Given the description of an element on the screen output the (x, y) to click on. 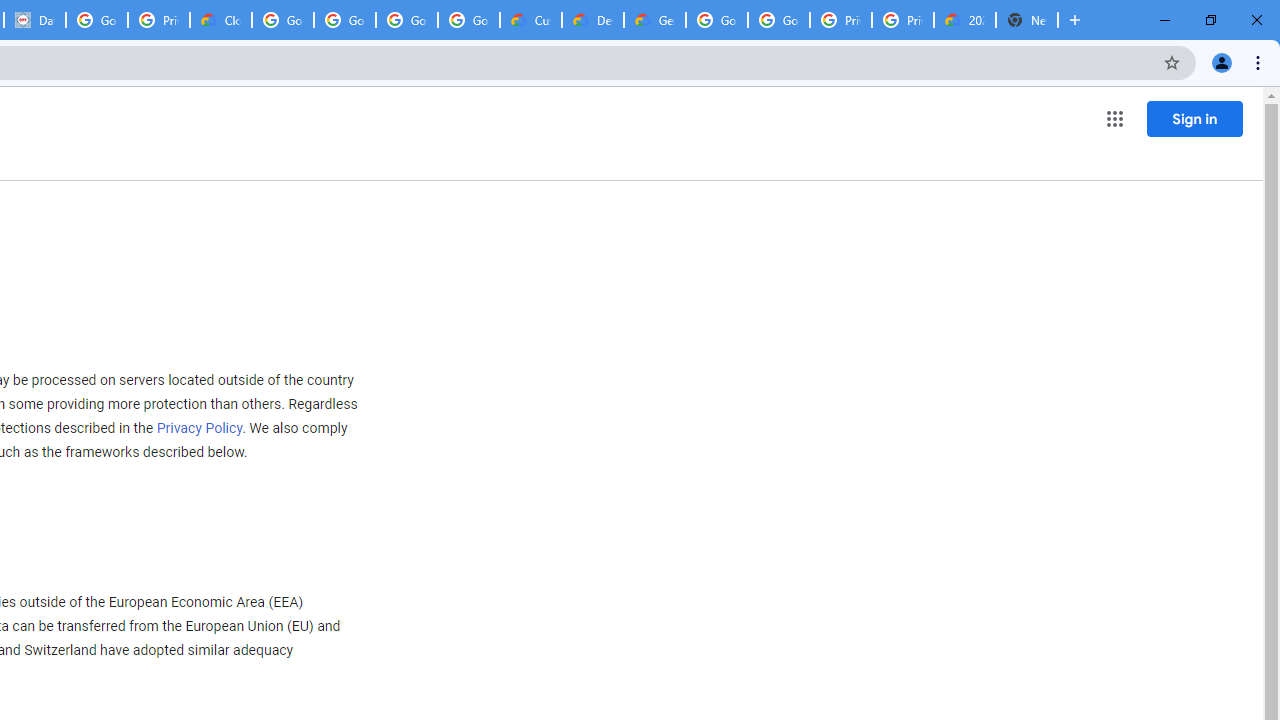
Customer Care | Google Cloud (530, 20)
Google Workspace - Specific Terms (406, 20)
